Given the description of an element on the screen output the (x, y) to click on. 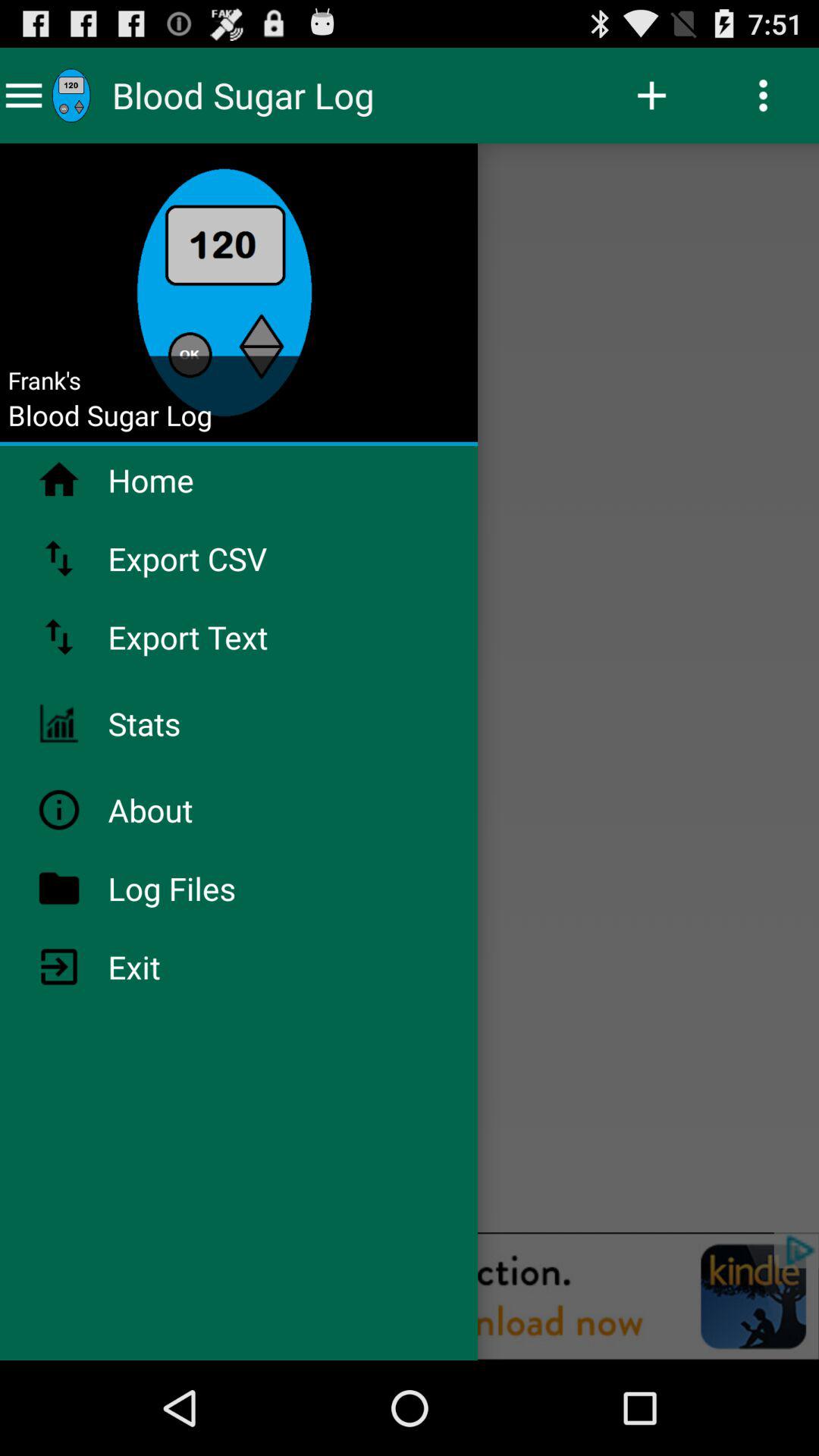
click about icon (190, 809)
